Given the description of an element on the screen output the (x, y) to click on. 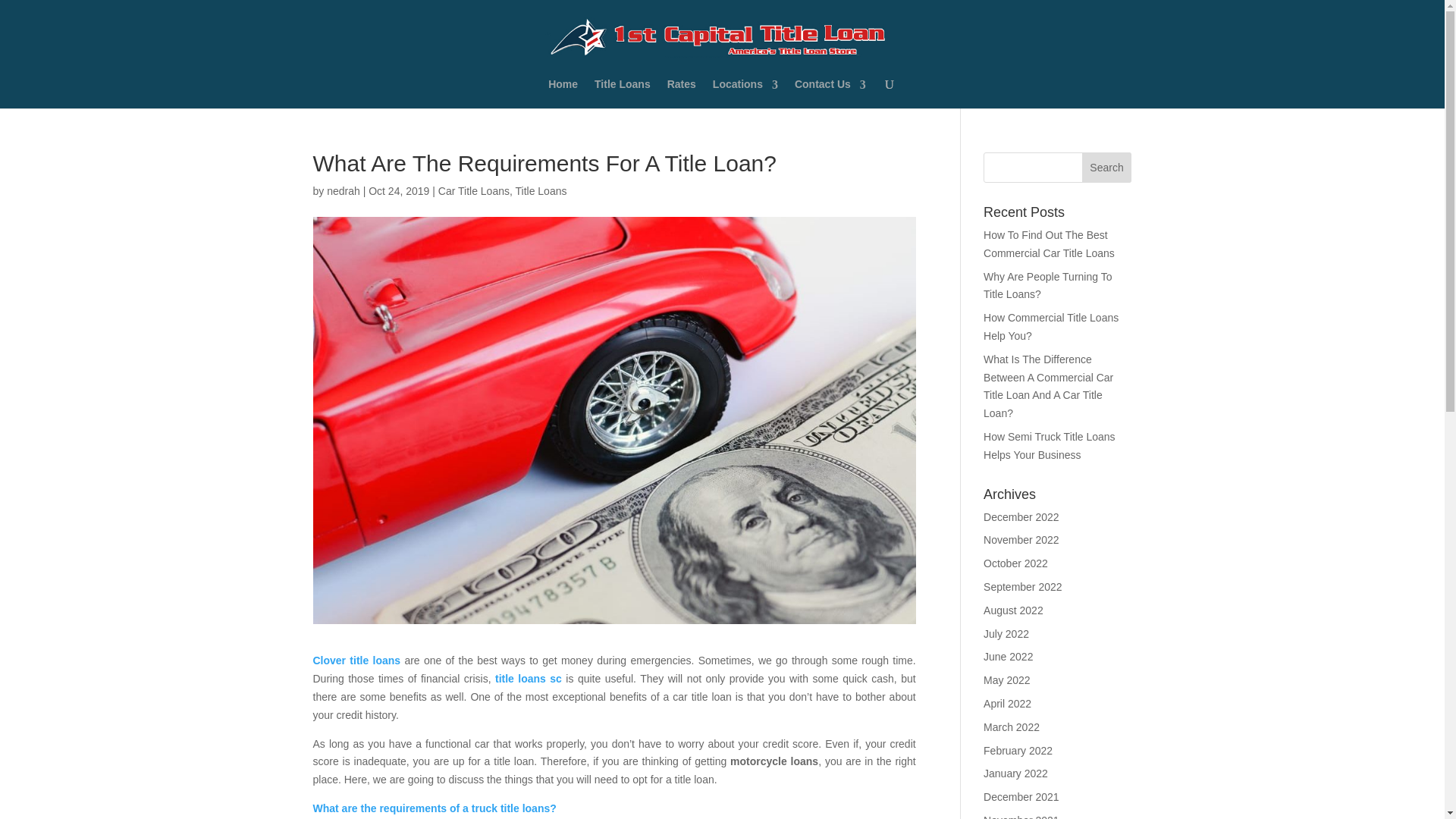
Home (563, 94)
Contact Us (830, 94)
nedrah (342, 191)
Rates (680, 94)
Locations (745, 94)
Search (1106, 167)
How To Find Out The Best Commercial Car Title Loans (1049, 244)
Search (1106, 167)
How Commercial Title Loans Help You? (1051, 327)
Posts by nedrah (342, 191)
Title Loans (541, 191)
title loans sc (528, 678)
Why Are People Turning To Title Loans? (1048, 286)
What are the requirements of a truck title loans? (434, 808)
Car Title Loans (473, 191)
